Given the description of an element on the screen output the (x, y) to click on. 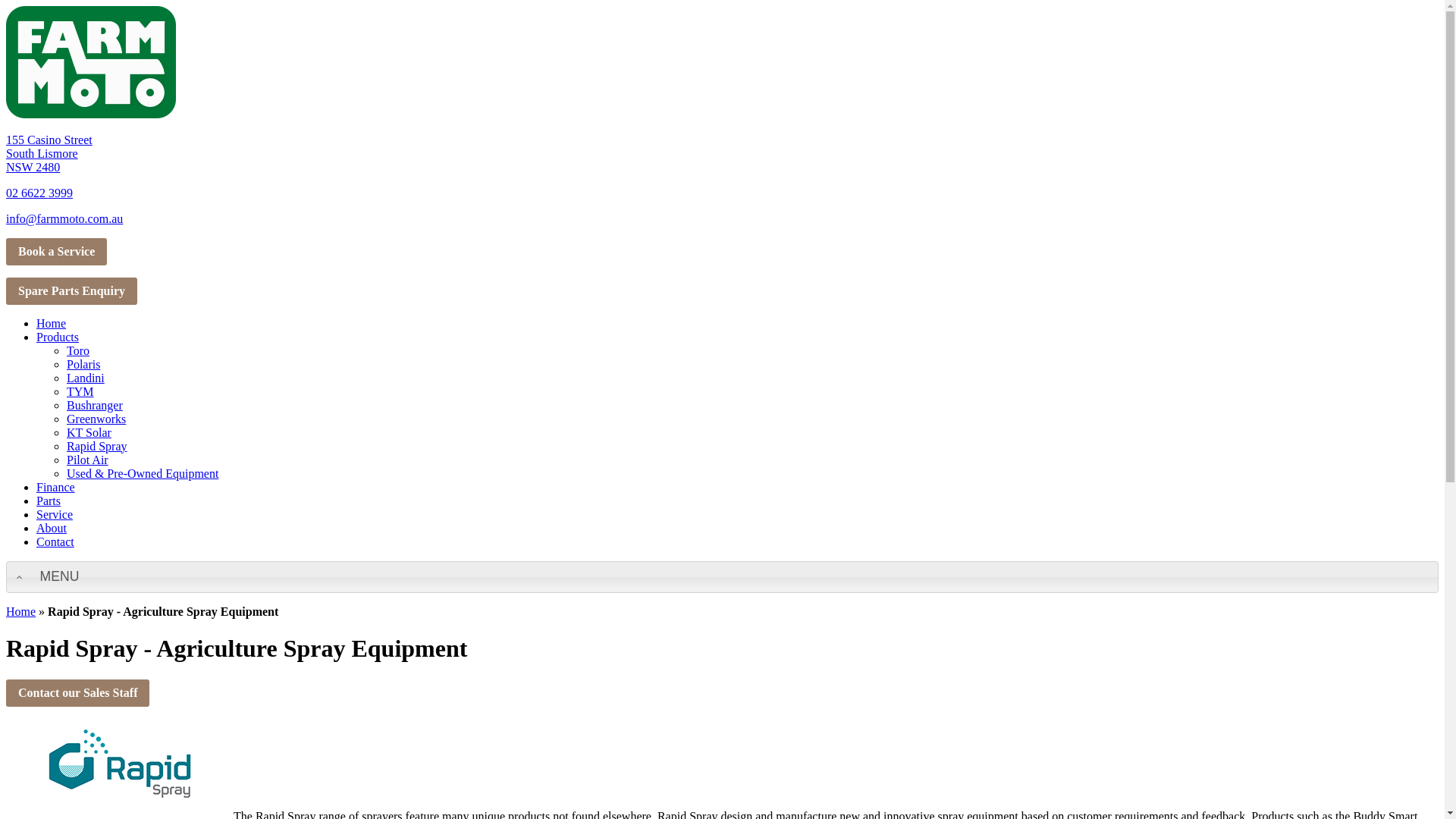
Home Element type: text (50, 322)
Service Element type: text (54, 514)
info@farmmoto.com.au Element type: text (64, 218)
155 Casino Street
South Lismore
NSW 2480 Element type: text (49, 153)
KT Solar Element type: text (88, 432)
Polaris Element type: text (83, 363)
02 6622 3999 Element type: text (39, 192)
Bushranger Element type: text (94, 404)
Finance Element type: text (55, 486)
About Element type: text (51, 527)
Spare Parts Enquiry Element type: text (71, 290)
Rapid Spray Element type: text (96, 445)
Pilot Air Element type: text (87, 459)
Toro Element type: text (77, 350)
Products Element type: text (57, 336)
Parts Element type: text (48, 500)
Used & Pre-Owned Equipment Element type: text (142, 473)
Home Element type: text (20, 611)
Greenworks Element type: text (95, 418)
Contact Element type: text (55, 541)
TYM Element type: text (80, 391)
Book a Service Element type: text (56, 251)
Contact our Sales Staff Element type: text (77, 692)
Landini Element type: text (85, 377)
